Given the description of an element on the screen output the (x, y) to click on. 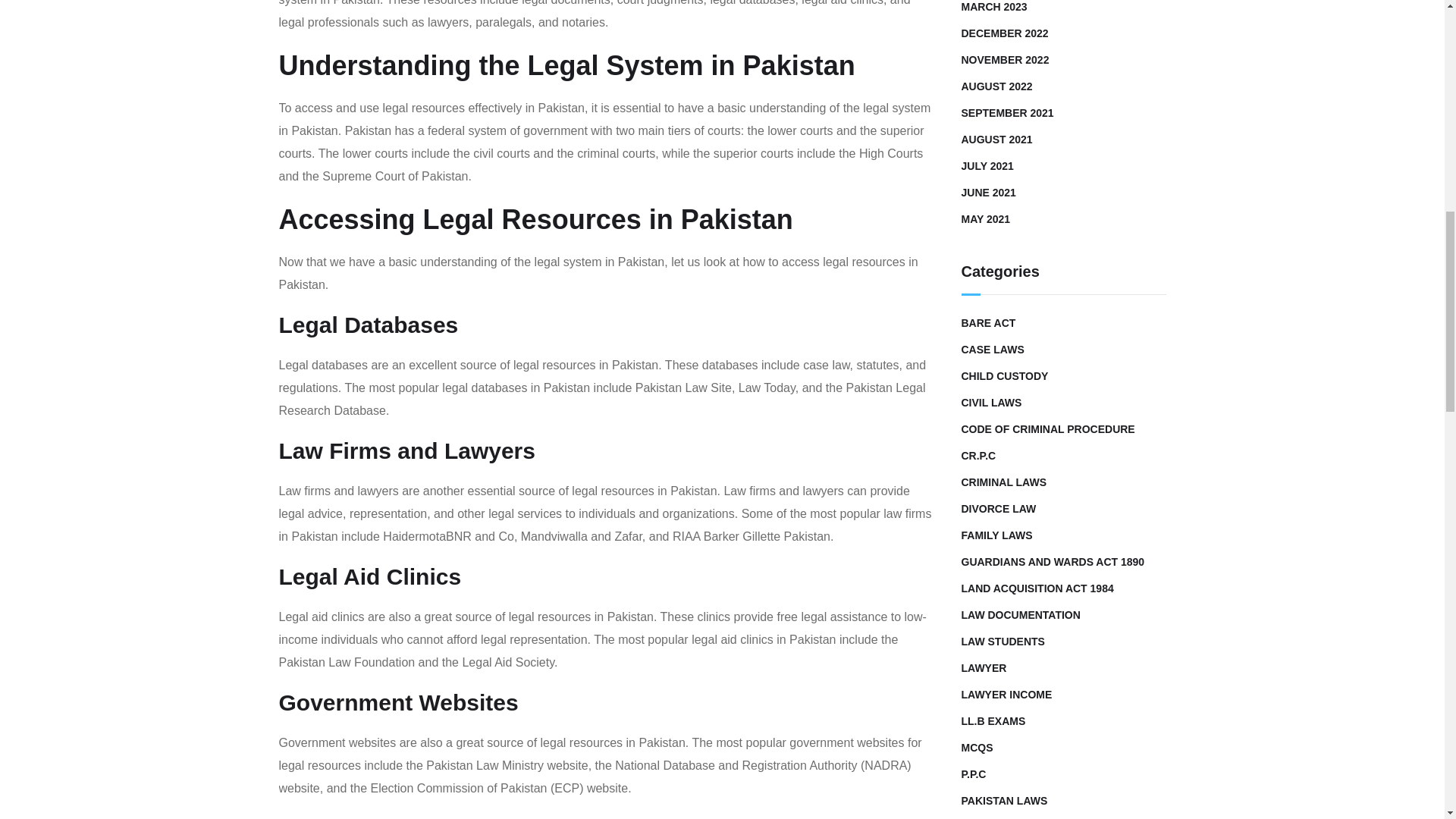
JUNE 2021 (988, 192)
CHILD CUSTODY (1004, 375)
JULY 2021 (986, 166)
NOVEMBER 2022 (1004, 59)
MAY 2021 (985, 218)
AUGUST 2021 (996, 139)
BARE ACT (988, 322)
DECEMBER 2022 (1004, 33)
AUGUST 2022 (996, 85)
CASE LAWS (992, 349)
MARCH 2023 (993, 7)
SEPTEMBER 2021 (1007, 113)
